Given the description of an element on the screen output the (x, y) to click on. 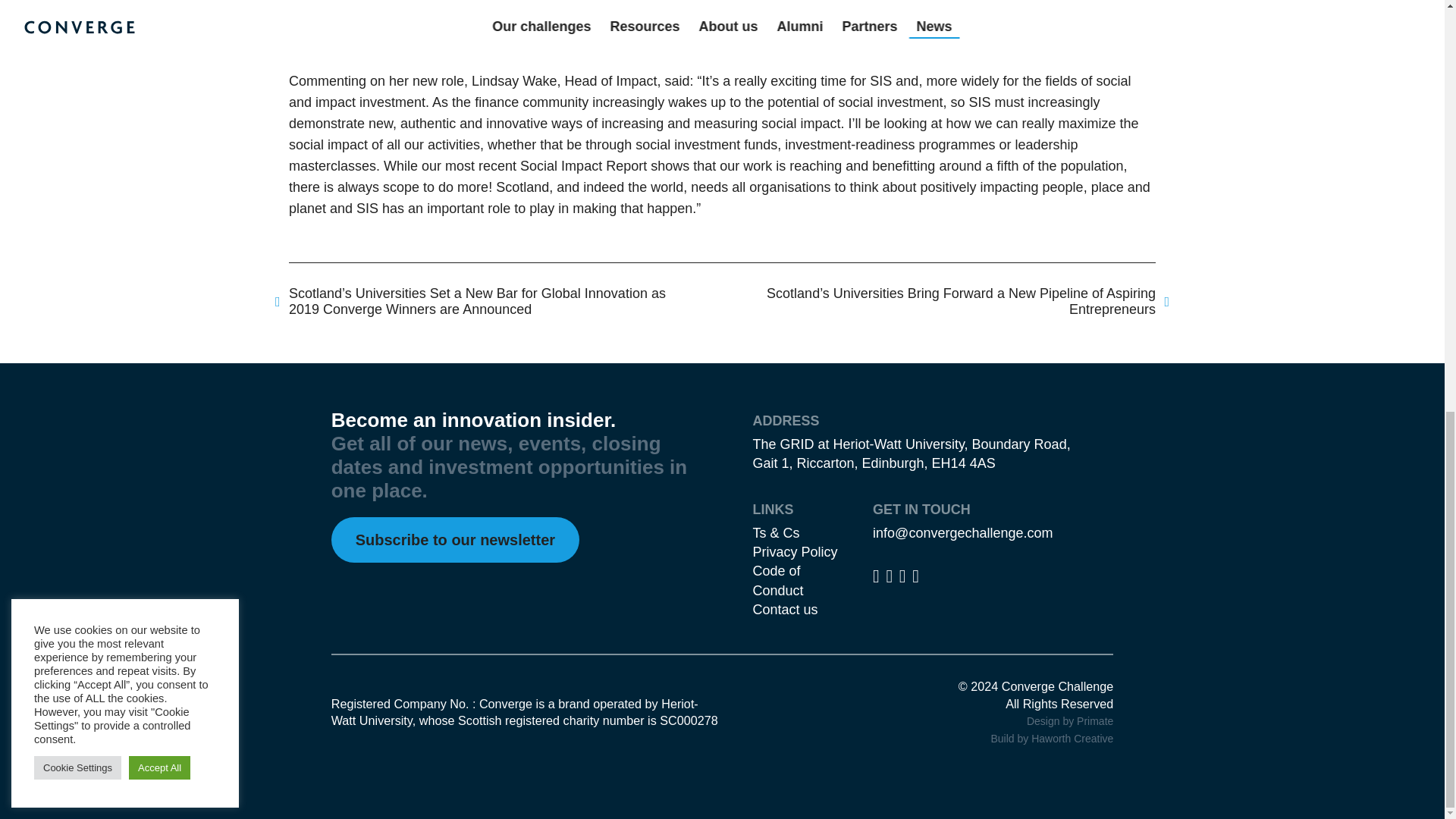
Privacy Policy (794, 551)
Contact us (784, 609)
Build by Haworth Creative (1051, 738)
Subscribe to our newsletter (455, 538)
Code of Conduct (777, 580)
Design by Primate (1069, 720)
